Given the description of an element on the screen output the (x, y) to click on. 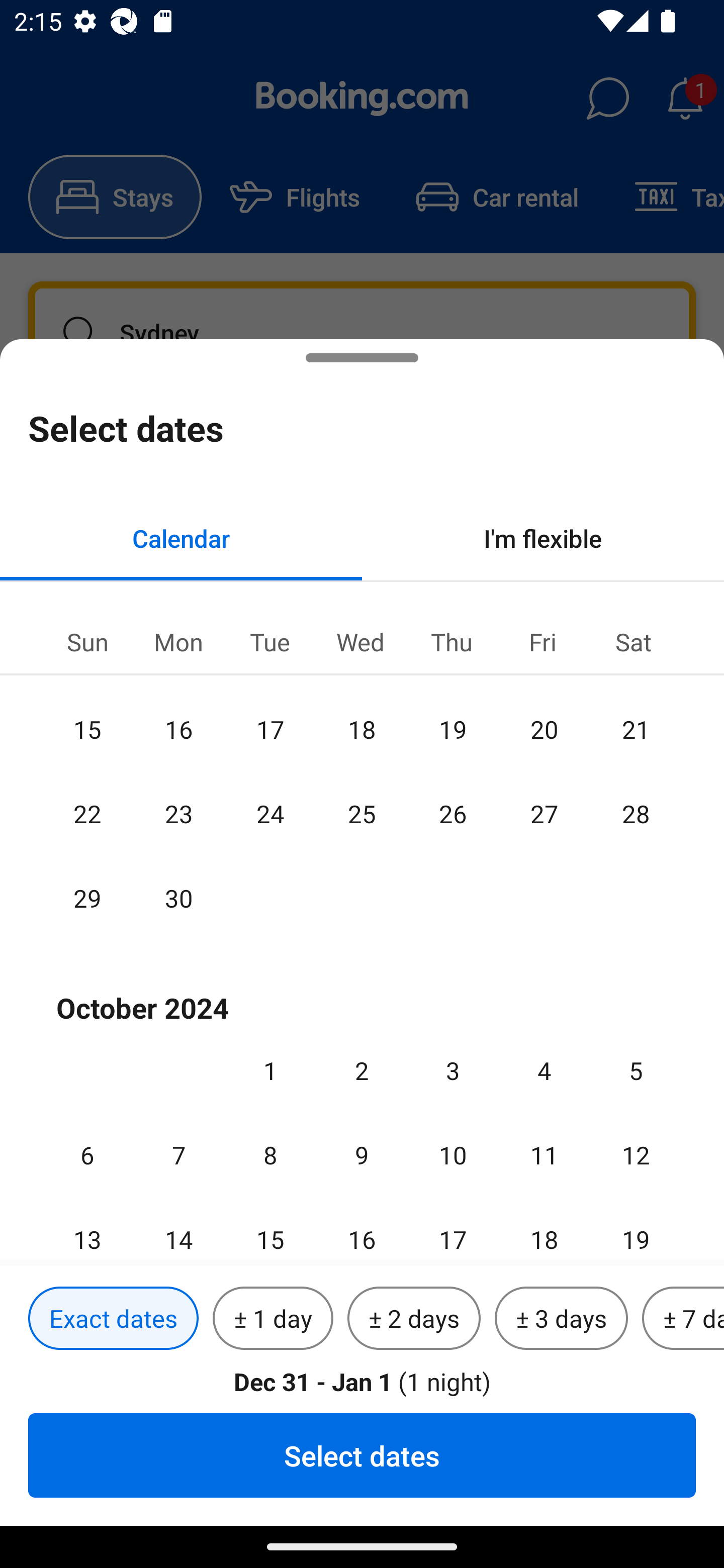
I'm flexible (543, 537)
Exact dates (113, 1318)
± 1 day (272, 1318)
± 2 days (413, 1318)
± 3 days (560, 1318)
± 7 days (683, 1318)
Select dates (361, 1454)
